Given the description of an element on the screen output the (x, y) to click on. 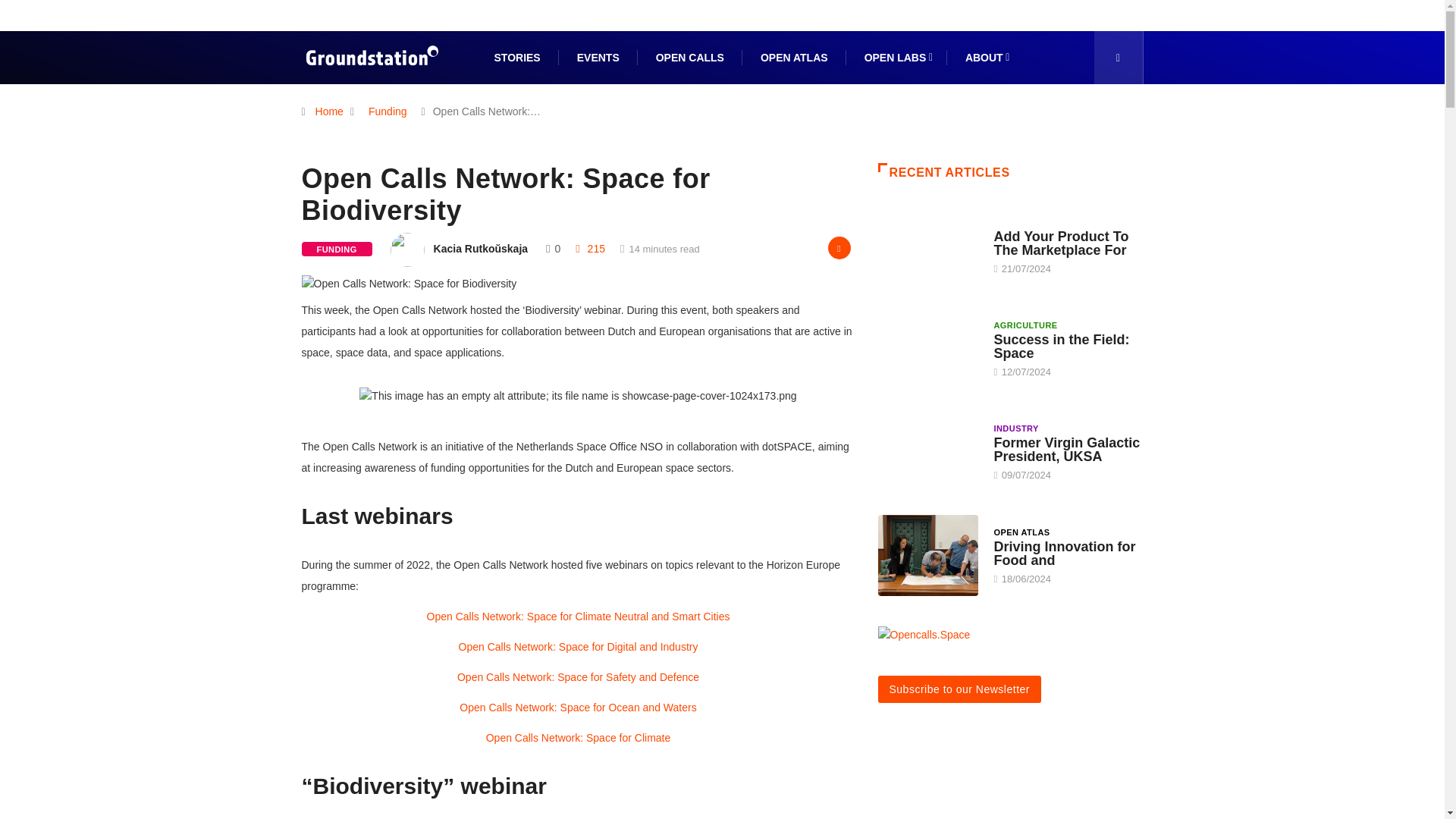
Open Calls Network: Space for Ocean and Waters (577, 707)
Home (329, 111)
Funding (387, 111)
FUNDING (336, 248)
Success in the Field: Space for Water and Food Security (927, 347)
OPEN ATLAS (794, 57)
Open Calls Network: Space for Safety and Defence (577, 676)
Open Calls Network: Space for Climate (578, 737)
